Given the description of an element on the screen output the (x, y) to click on. 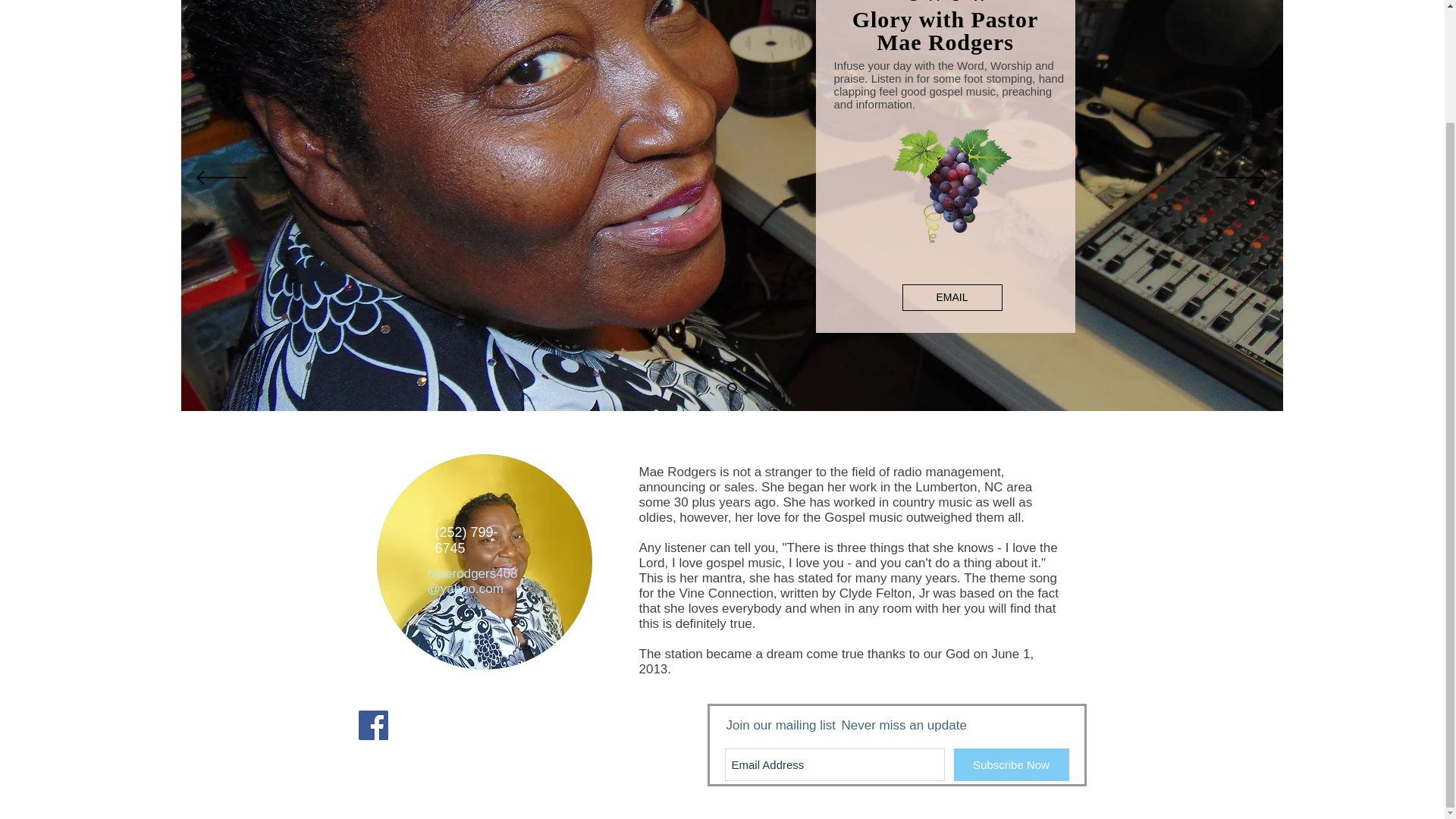
EMAIL (952, 297)
Subscribe Now (1010, 764)
